Given the description of an element on the screen output the (x, y) to click on. 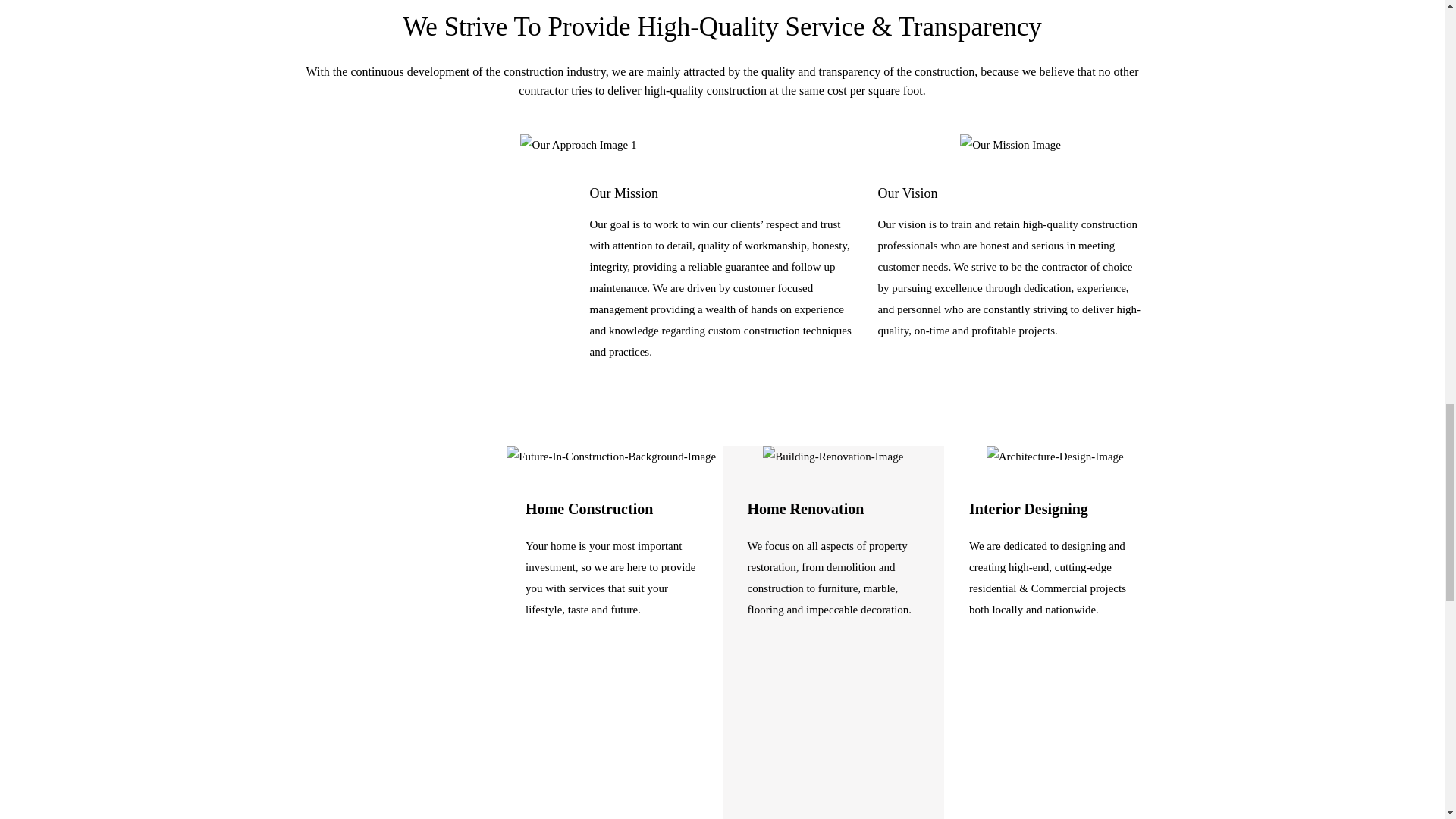
Company Overview 4 (611, 455)
Company Overview 3 (1010, 144)
Company Overview 2 (578, 144)
Interior Designing (1028, 508)
Home Construction (588, 508)
Company Overview 5 (832, 455)
Company Overview 6 (1055, 455)
Home Renovation (806, 508)
